Given the description of an element on the screen output the (x, y) to click on. 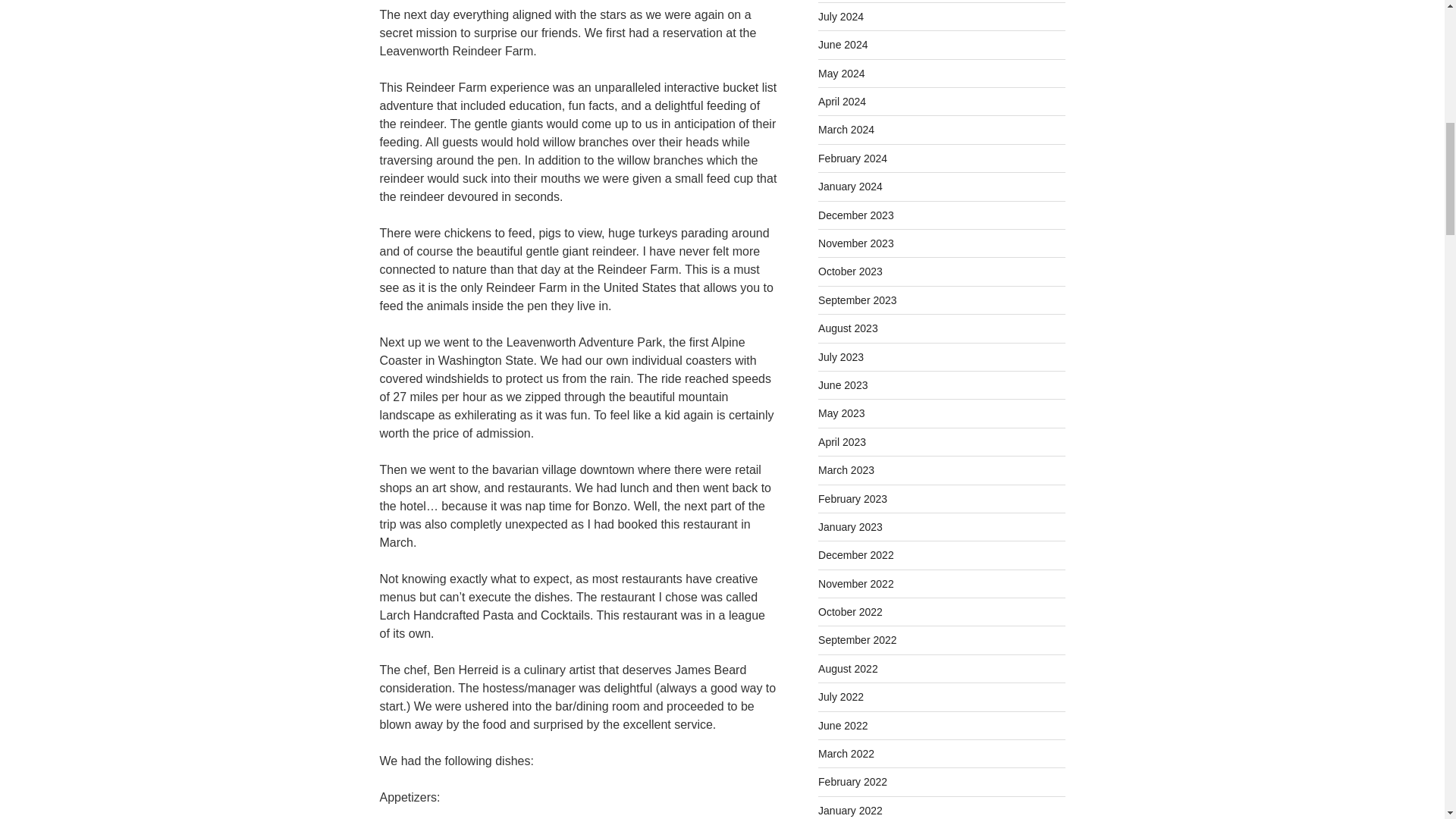
November 2023 (855, 243)
April 2023 (842, 441)
September 2022 (857, 639)
March 2024 (846, 129)
November 2022 (855, 583)
May 2023 (841, 413)
May 2024 (841, 73)
July 2024 (840, 16)
October 2022 (850, 612)
February 2024 (852, 158)
September 2023 (857, 300)
April 2024 (842, 101)
January 2024 (850, 186)
July 2023 (840, 357)
December 2023 (855, 215)
